Given the description of an element on the screen output the (x, y) to click on. 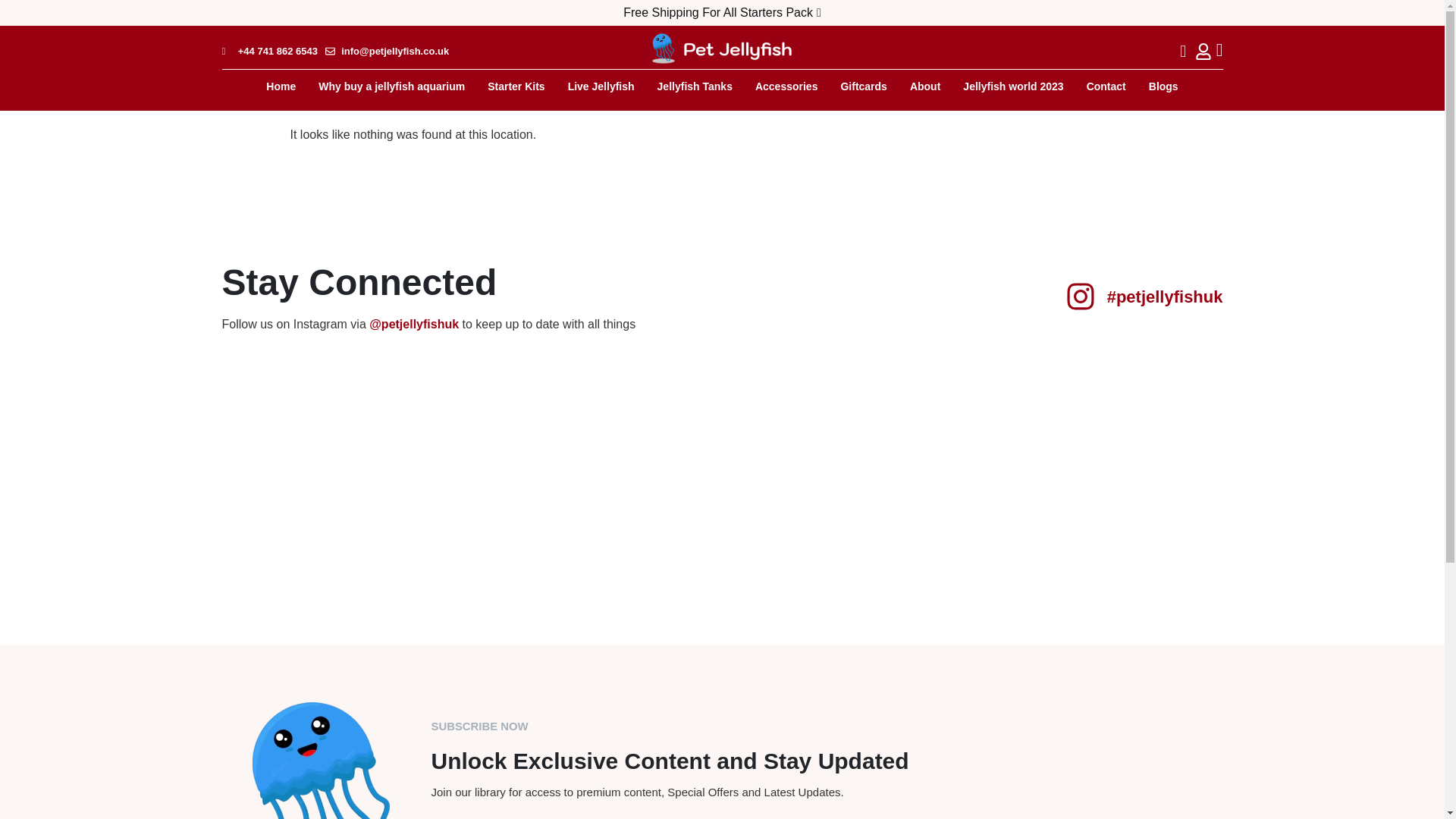
Jellyfish world 2023 (1013, 86)
Blogs (1163, 86)
Free Shipping For All Starters Pack (721, 12)
Starter Kits (516, 86)
Contact (1106, 86)
Jellyfish Tanks (695, 86)
Accessories (786, 86)
Giftcards (863, 86)
Why buy a jellyfish aquarium (391, 86)
Home (280, 86)
